Given the description of an element on the screen output the (x, y) to click on. 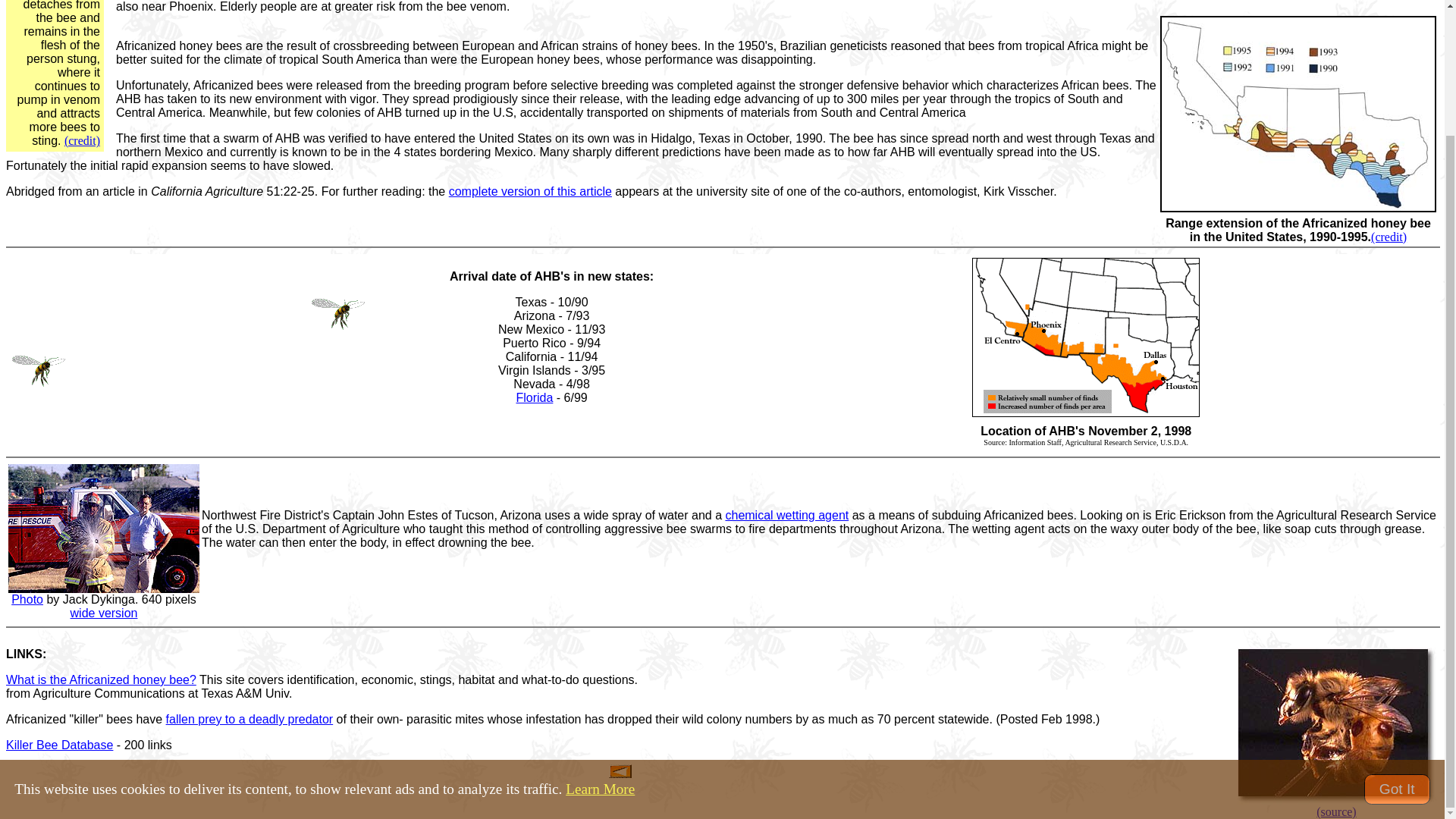
Learn More (600, 637)
chemical wetting agent (786, 514)
Got It (1396, 636)
What is the Africanized honey bee? (100, 679)
Learn More (600, 637)
fallen prey to a deadly predator (249, 718)
wide version (103, 612)
Florida (534, 397)
complete version of this article (529, 191)
Killer Bee Database (59, 744)
